Given the description of an element on the screen output the (x, y) to click on. 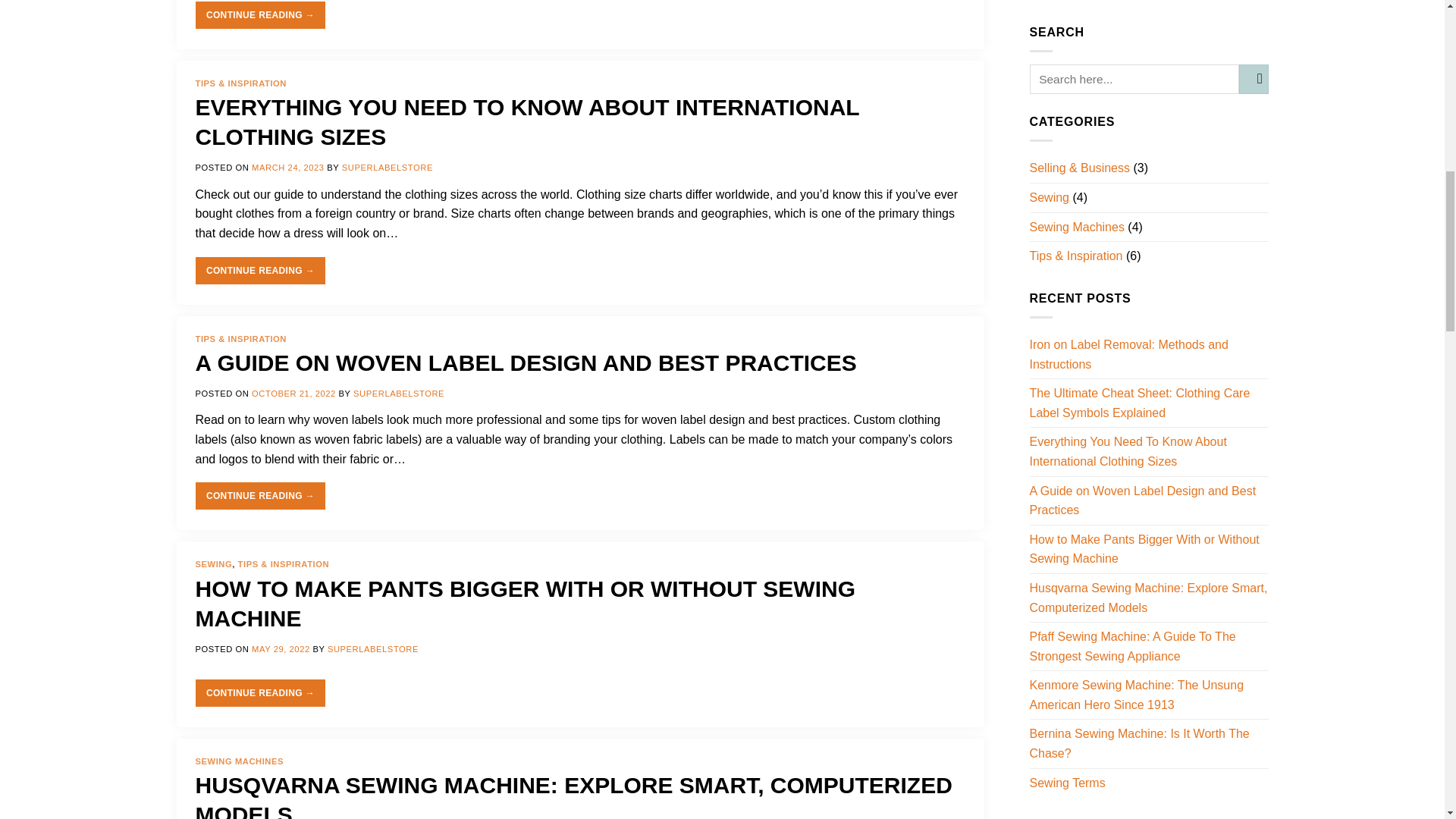
MARCH 24, 2023 (287, 166)
